Given the description of an element on the screen output the (x, y) to click on. 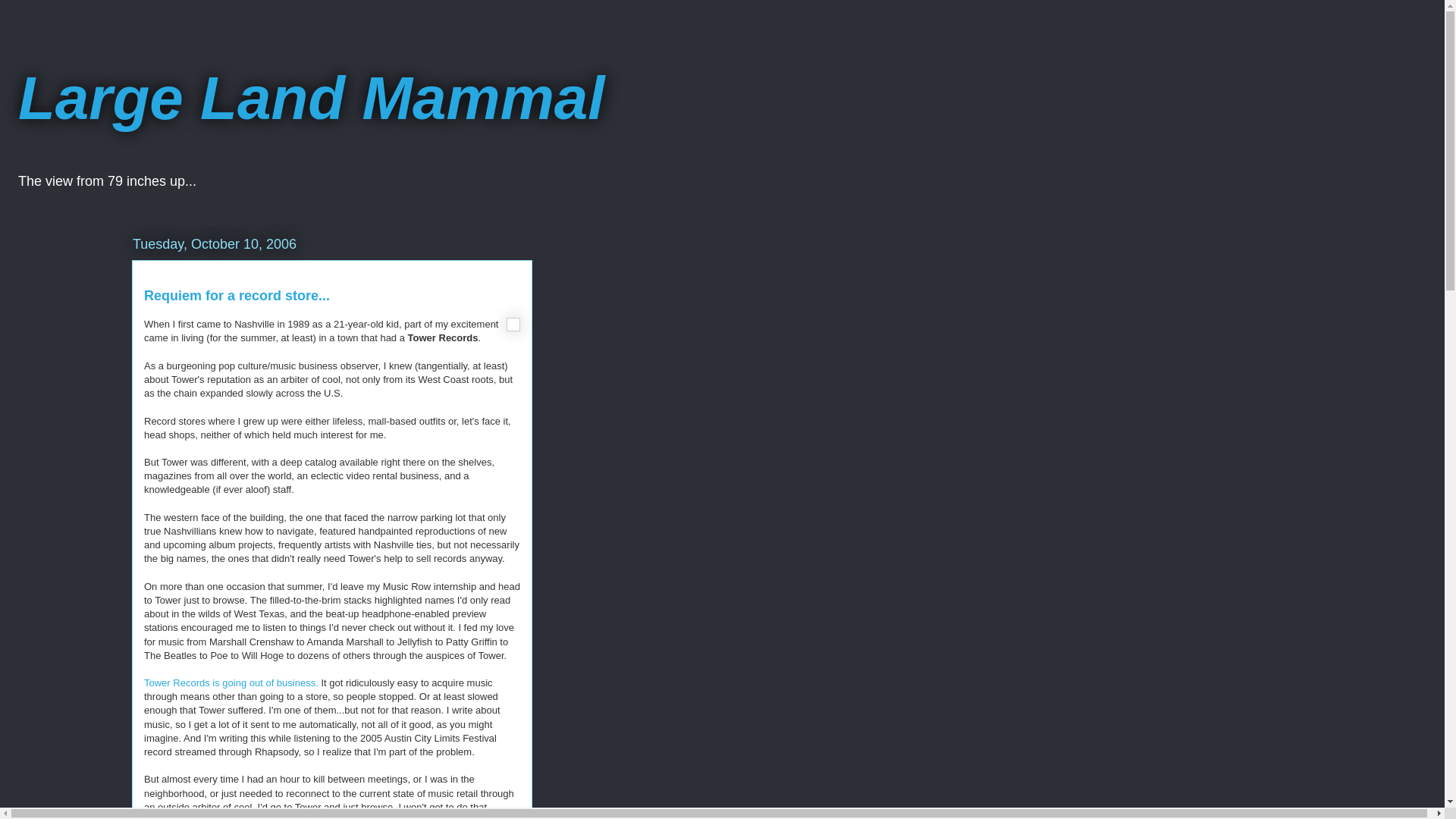
Tower Records is going out of business. (231, 682)
Large Land Mammal (311, 97)
